Given the description of an element on the screen output the (x, y) to click on. 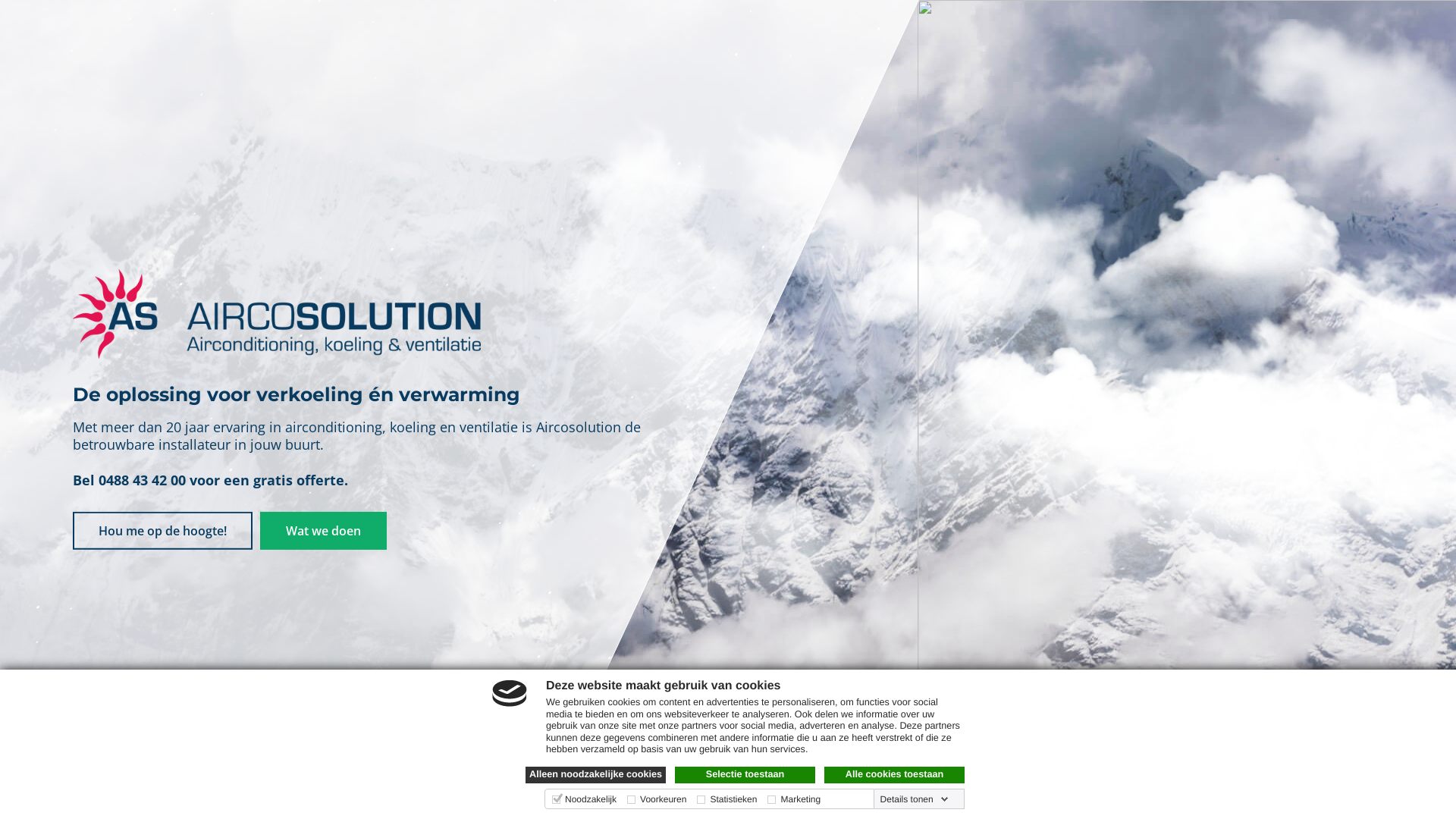
Alleen noodzakelijke cookies Element type: text (595, 774)
Alle cookies toestaan Element type: text (894, 774)
0488 43 42 00 Element type: text (141, 479)
Details tonen Element type: text (914, 799)
Hou me op de hoogte! Element type: text (162, 530)
Selectie toestaan Element type: text (744, 774)
Wat we doen Element type: text (323, 530)
